Given the description of an element on the screen output the (x, y) to click on. 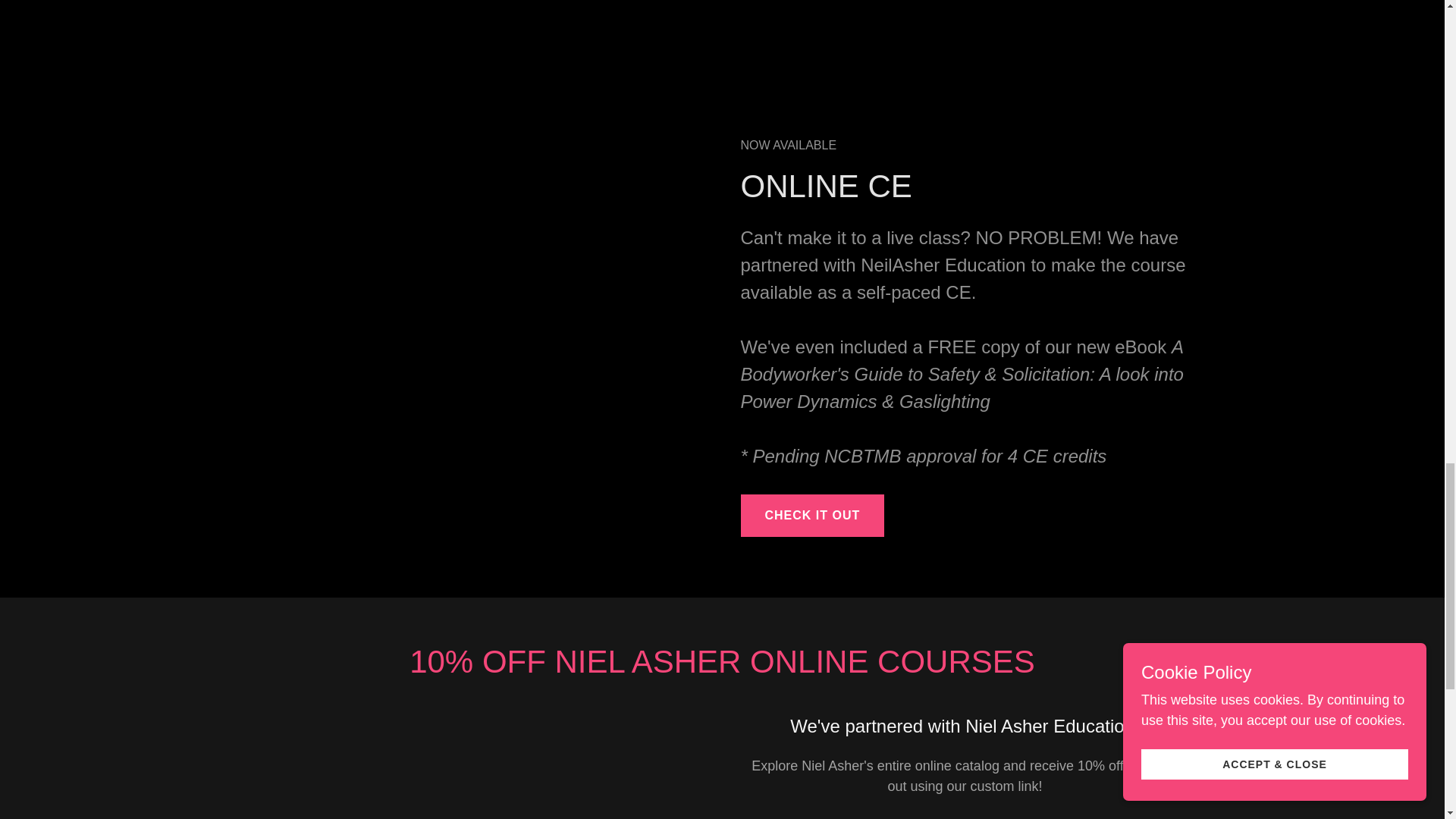
CHECK IT OUT (811, 515)
